Given the description of an element on the screen output the (x, y) to click on. 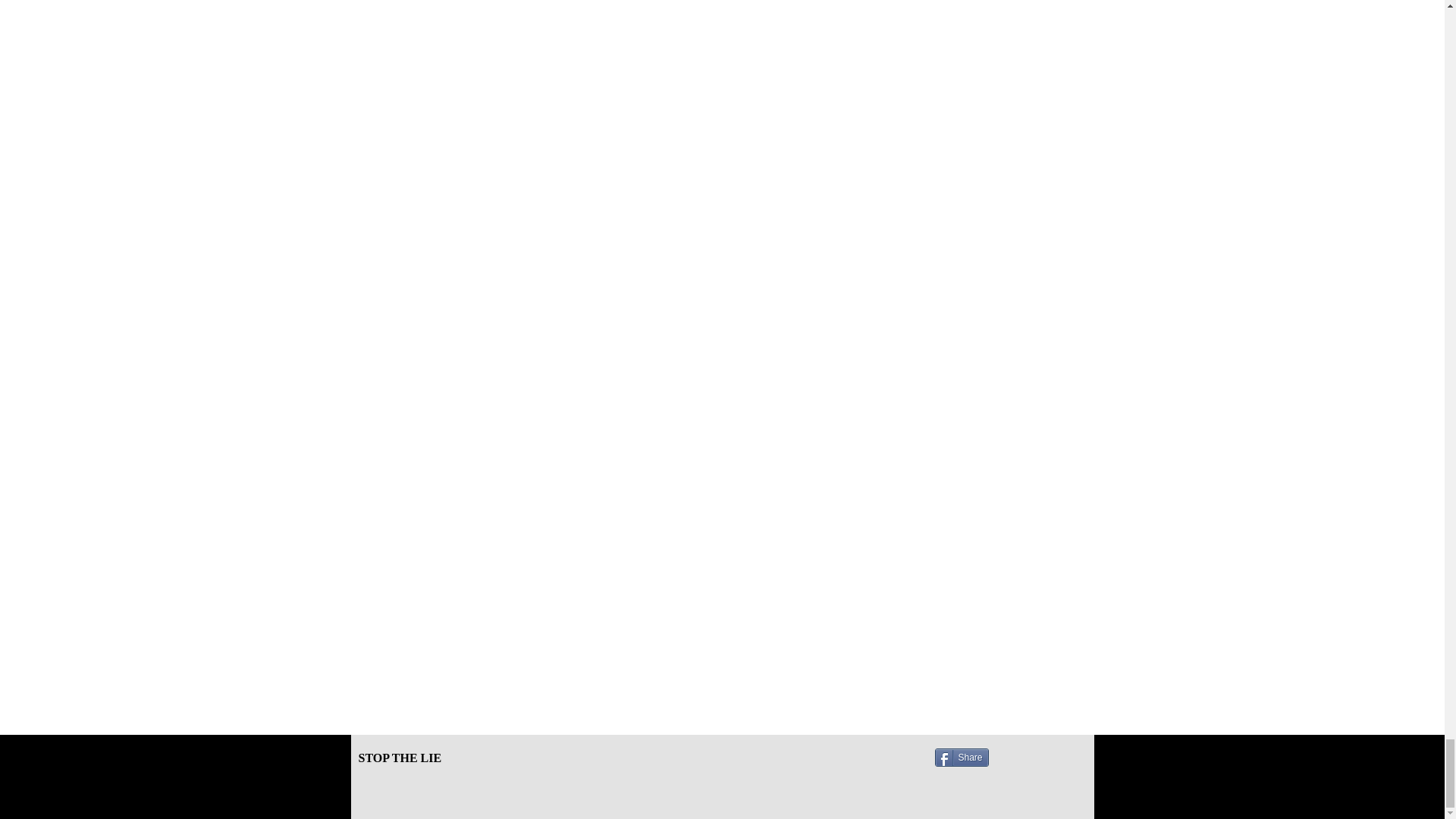
Share (961, 757)
Share (961, 757)
Pin to Pinterest (1059, 757)
Twitter Tweet (1018, 757)
